Given the description of an element on the screen output the (x, y) to click on. 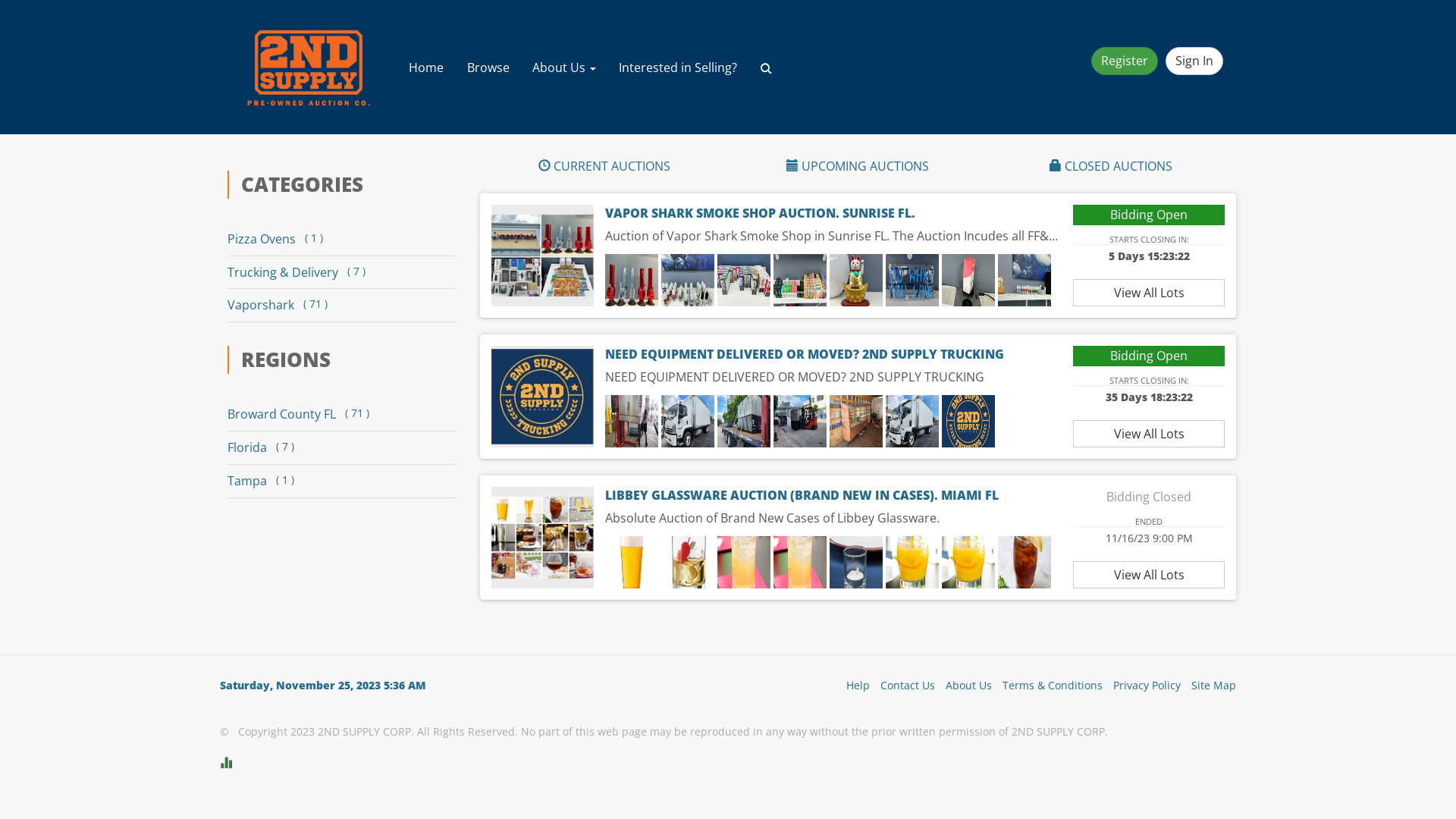
Interested in Selling? Element type: text (677, 67)
VAPOR SHARK SMOKE SHOP AUCTION. SUNRISE FL. Element type: text (760, 212)
Contact Us Element type: text (903, 685)
Privacy Policy Element type: text (1142, 685)
Connection Established for Real-Time Updates Element type: hover (727, 762)
View All Lots Element type: text (1148, 434)
LIBBEY GLASSWARE AUCTION (BRAND NEW IN CASES). MIAMI FL Element type: text (801, 494)
About Us Element type: text (964, 685)
Terms & Conditions Element type: text (1048, 685)
Florida   
( 7 ) Element type: text (336, 447)
CURRENT AUCTIONS Element type: text (604, 166)
View All Lots Element type: text (1148, 293)
UPCOMING AUCTIONS Element type: text (857, 166)
Register Element type: text (1124, 61)
Tampa   
( 1 ) Element type: text (336, 480)
Pizza Ovens   
( 1 ) Element type: text (336, 238)
Sign In Element type: text (1194, 61)
Browse Element type: text (487, 67)
NEED EQUIPMENT DELIVERED OR MOVED? 2ND SUPPLY TRUCKING Element type: text (804, 353)
Home Element type: text (425, 67)
CLOSED AUCTIONS Element type: text (1110, 166)
Vaporshark   
( 71 ) Element type: text (336, 304)
Site Map Element type: text (1209, 685)
Help Element type: text (853, 685)
Broward County FL   
( 71 ) Element type: text (336, 414)
View All Lots Element type: text (1148, 575)
About Us Element type: text (563, 67)
Trucking & Delivery   
( 7 ) Element type: text (336, 272)
